Given the description of an element on the screen output the (x, y) to click on. 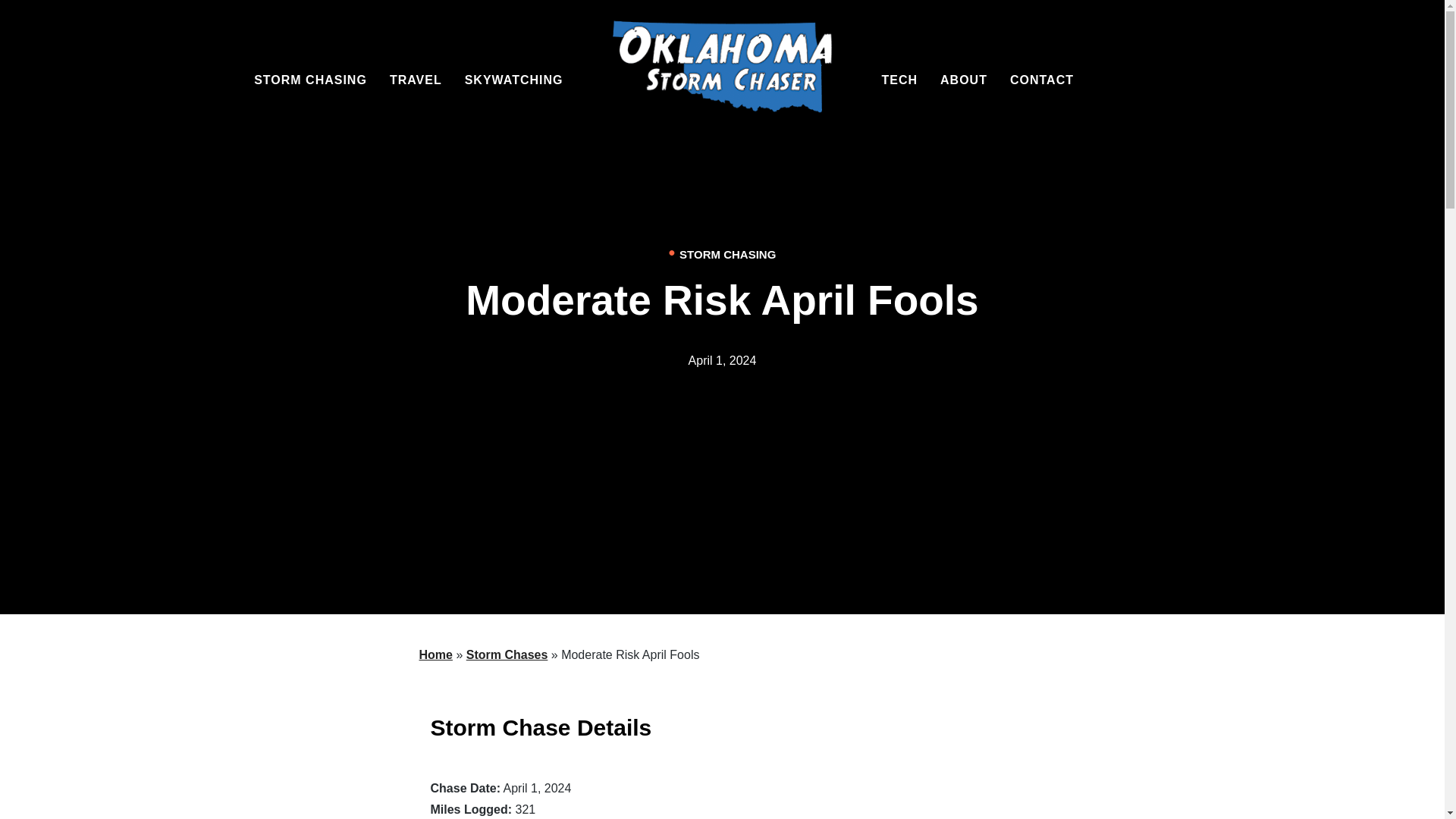
TECH (898, 80)
Home (435, 654)
TRAVEL (416, 80)
SKYWATCHING (513, 80)
Oklahoma Storm Chaser Ben Holcomb (722, 73)
STORM CHASING (309, 80)
ABOUT (963, 80)
CONTACT (1042, 80)
Storm Chases (506, 654)
